Given the description of an element on the screen output the (x, y) to click on. 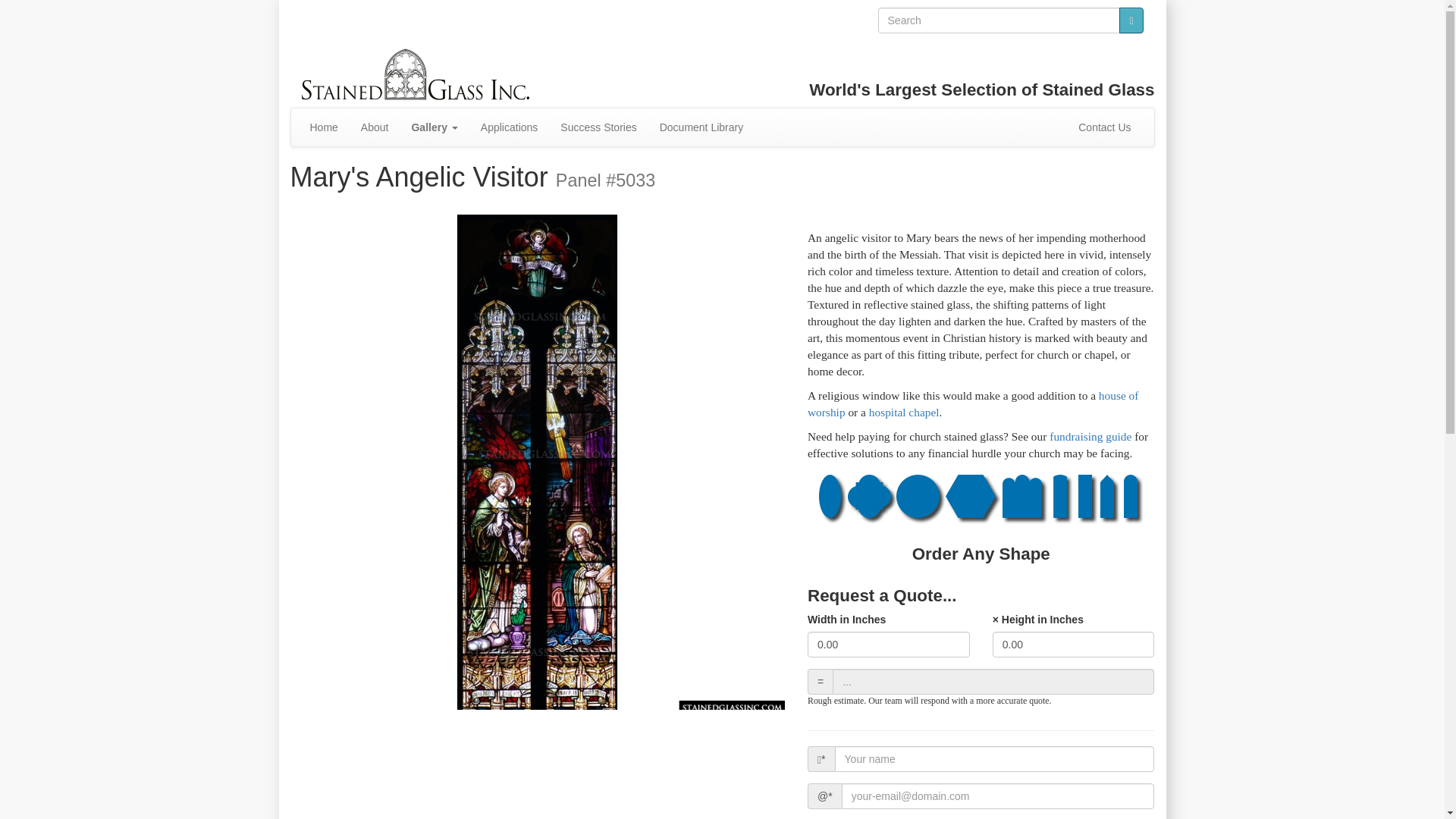
Document Library (701, 126)
About (374, 126)
house of worship (973, 403)
hospital chapel (904, 411)
0.00 (888, 644)
Success Stories (597, 126)
0.00 (1073, 644)
fundraising guide (1090, 436)
Contact Us (1104, 126)
Applications (509, 126)
Gallery (433, 126)
Home (323, 126)
